Given the description of an element on the screen output the (x, y) to click on. 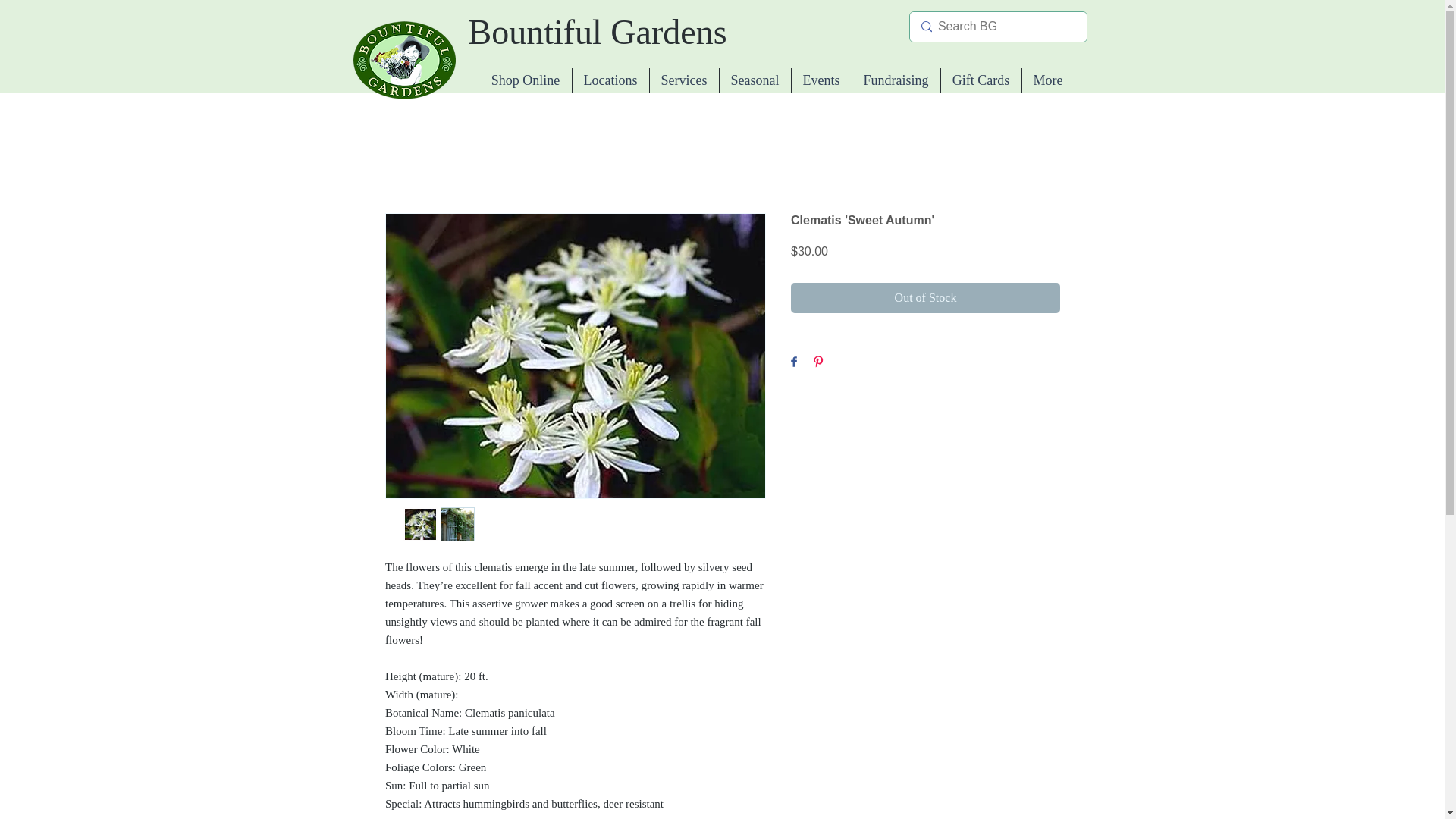
Out of Stock (924, 297)
Locations (609, 80)
Gift Cards (980, 80)
